Given the description of an element on the screen output the (x, y) to click on. 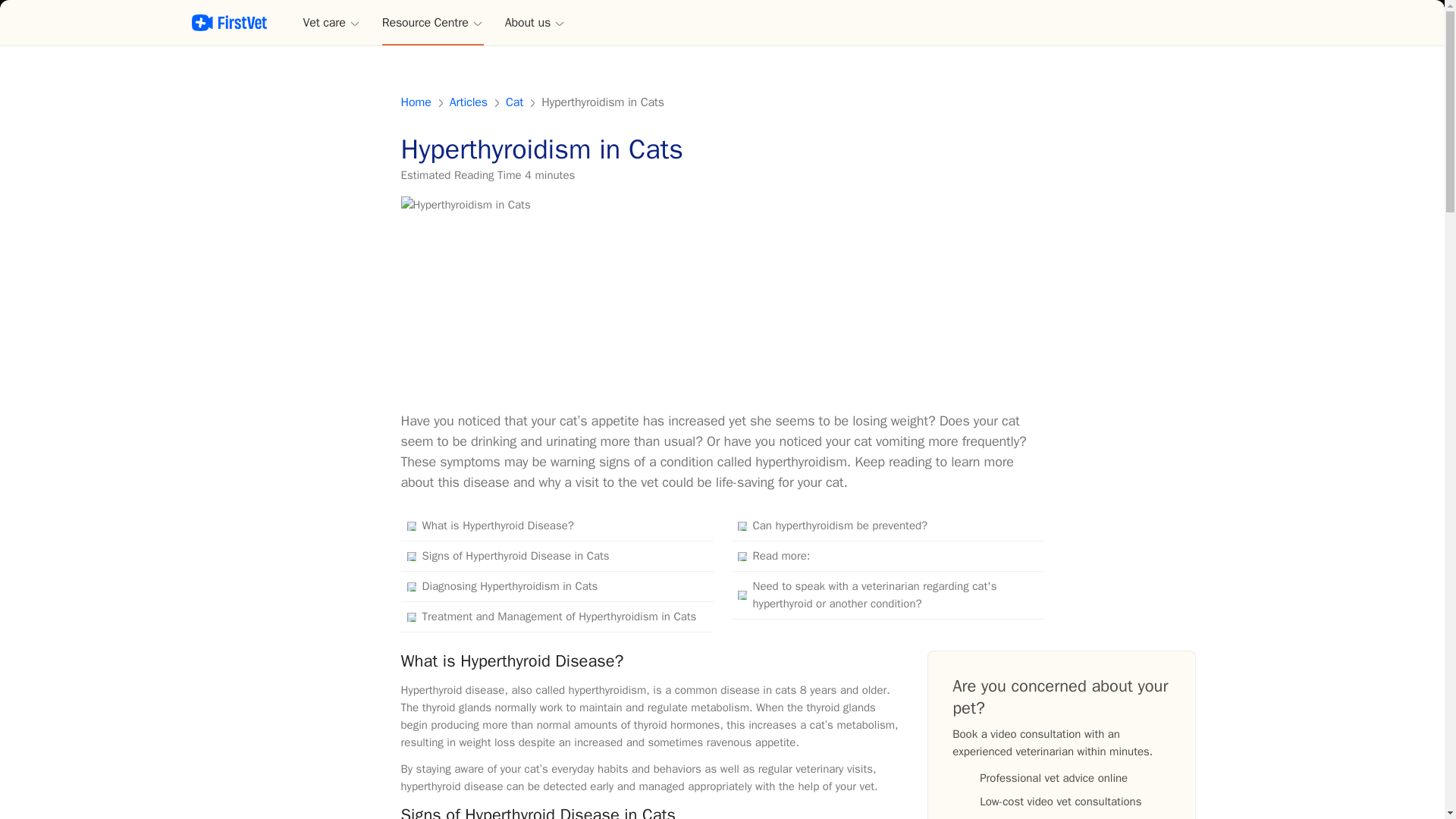
Vet care (331, 22)
About us (535, 22)
Resource Centre (432, 22)
Cat (513, 102)
Treatment and Management of Hyperthyroidism in Cats (556, 616)
Articles (468, 102)
Home (415, 102)
Signs of Hyperthyroid Disease in Cats (556, 556)
Can hyperthyroidism be prevented? (886, 526)
Read more: (886, 556)
What is Hyperthyroid Disease? (556, 526)
Diagnosing Hyperthyroidism in Cats (556, 586)
